Given the description of an element on the screen output the (x, y) to click on. 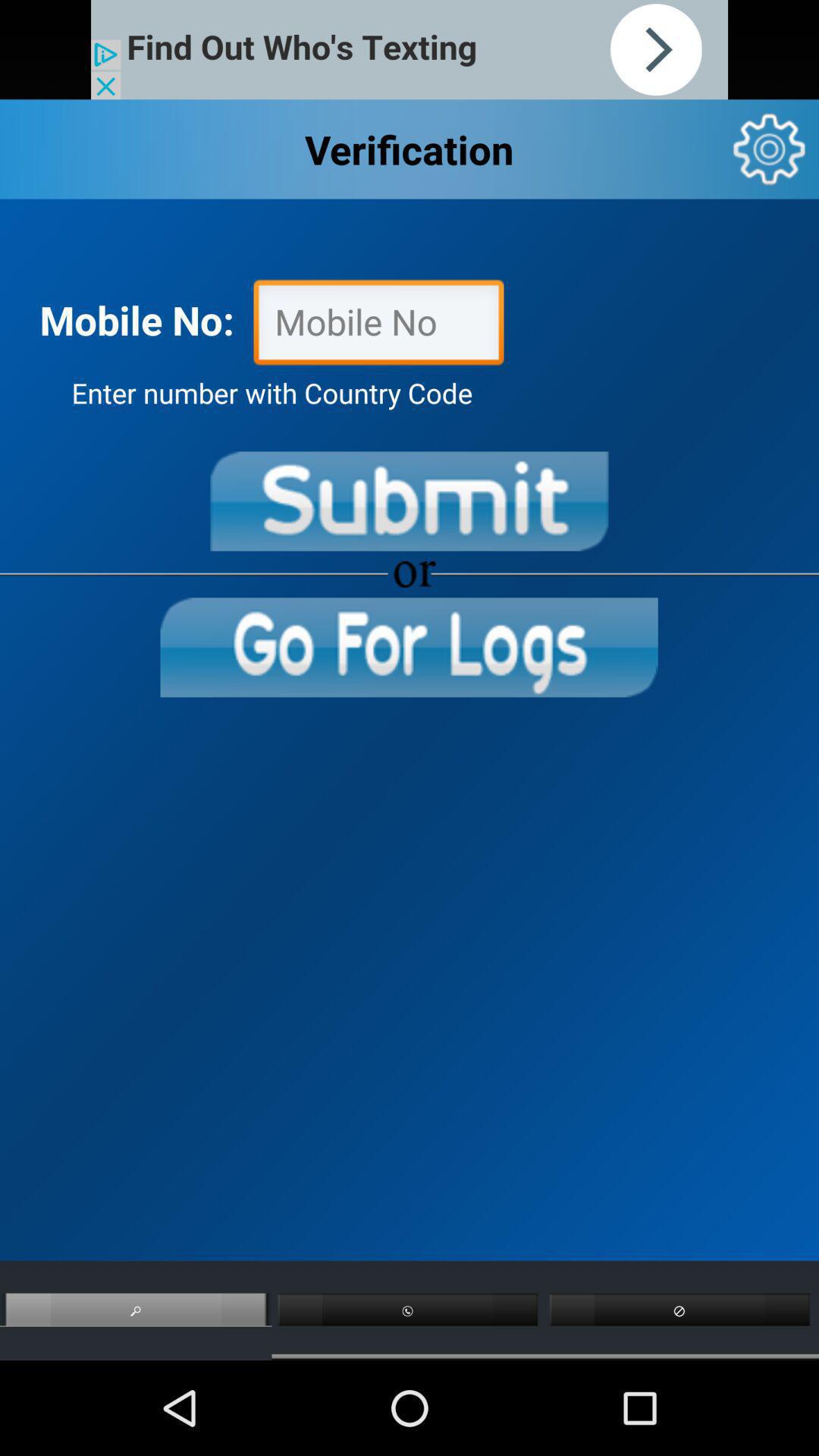
open page (409, 647)
